Given the description of an element on the screen output the (x, y) to click on. 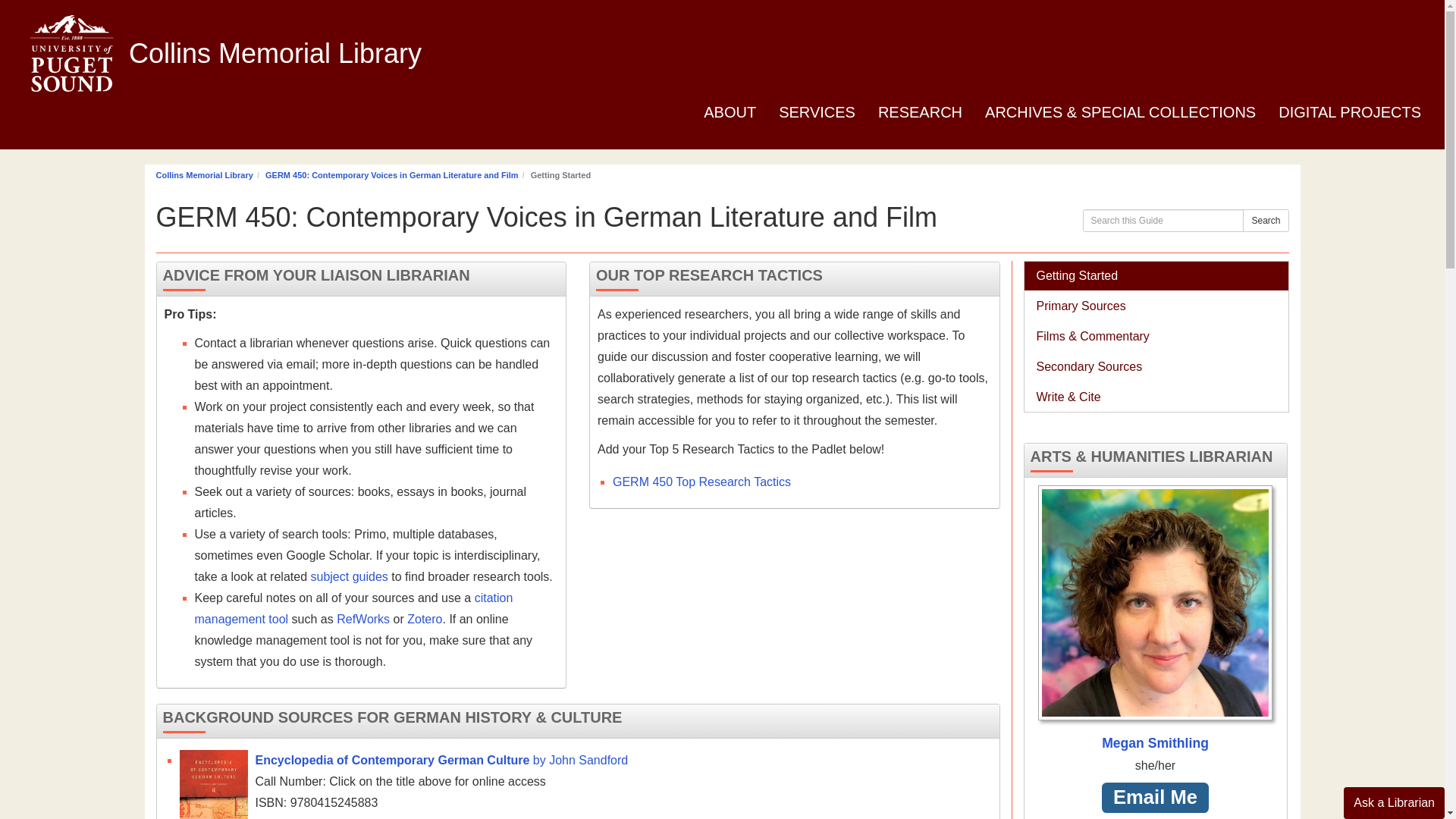
University of Puget Sound Homepage (64, 46)
Collins Memorial Library (275, 45)
ABOUT (730, 113)
Collins Memorial Library (204, 174)
SERVICES (816, 113)
GERM 450: Contemporary Voices in German Literature and Film (391, 174)
RESEARCH (920, 113)
DIGITAL PROJECTS (1349, 113)
